Given the description of an element on the screen output the (x, y) to click on. 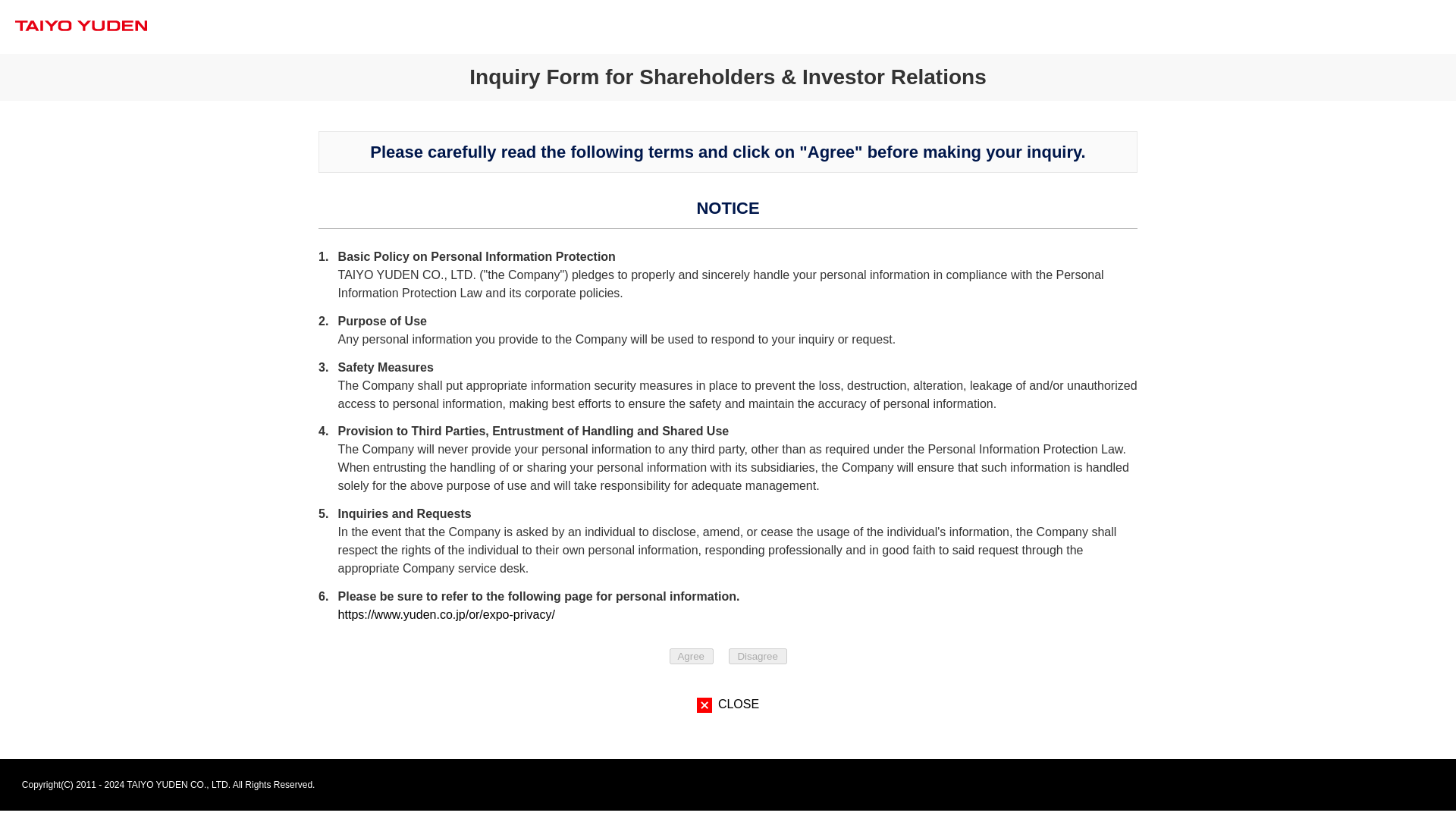
CLOSE (727, 703)
 Agree  (690, 656)
 Disagree  (758, 656)
